Given the description of an element on the screen output the (x, y) to click on. 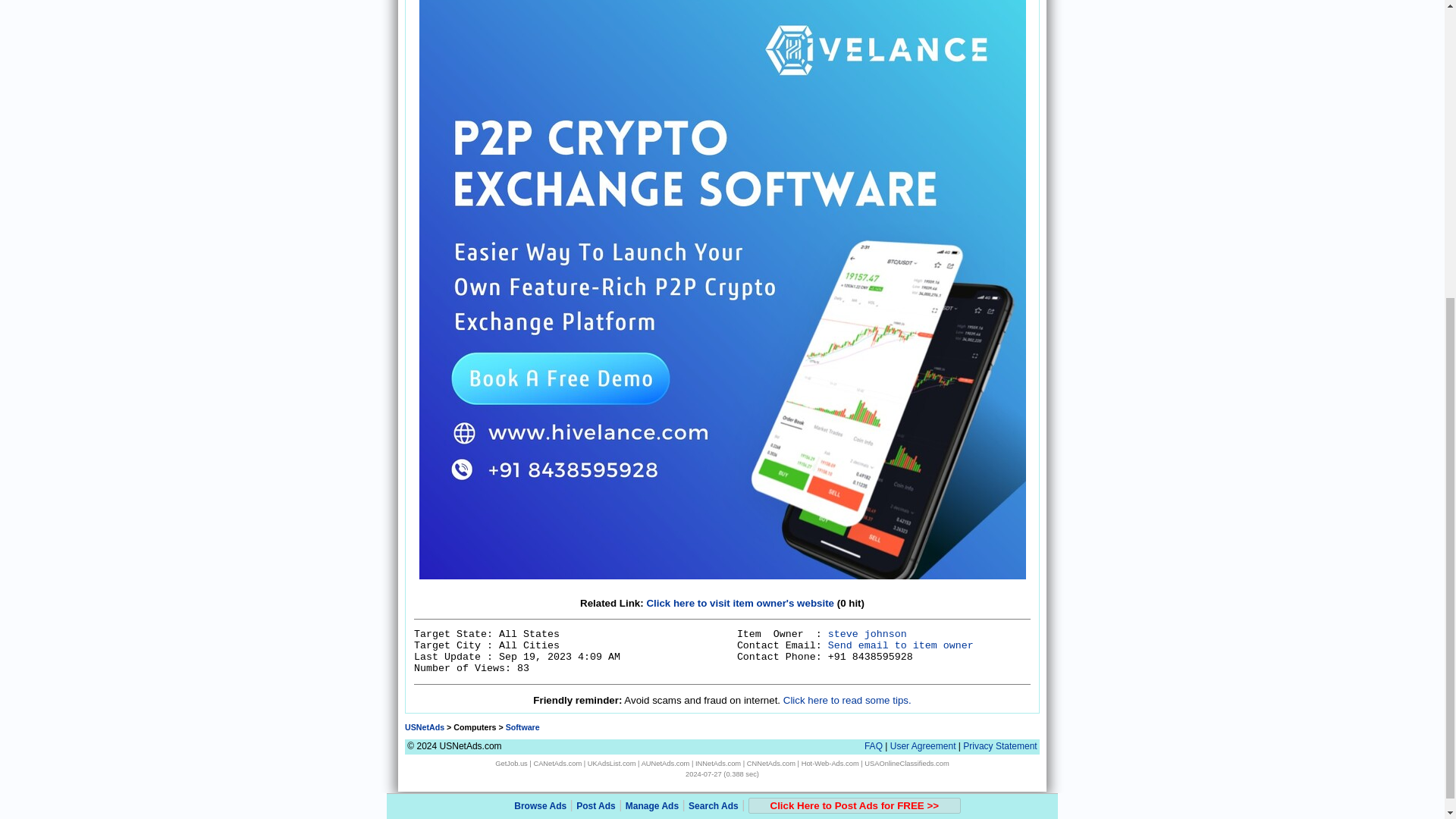
FAQ (873, 746)
Browse all items posted by this owner (867, 633)
Post Ads (595, 335)
Go Back to USNetAds.com Home Page (424, 727)
Software (522, 727)
Hot-Web-Ads.com (830, 763)
Browse Ads (539, 335)
steve johnson (867, 633)
AUNetAds.com (666, 763)
USNetAds (424, 727)
Click here to visit item owner's website (740, 603)
CANetAds.com (556, 763)
User Agreement (922, 746)
USAOnlineClassifieds.com (906, 763)
Privacy Statement (999, 746)
